Given the description of an element on the screen output the (x, y) to click on. 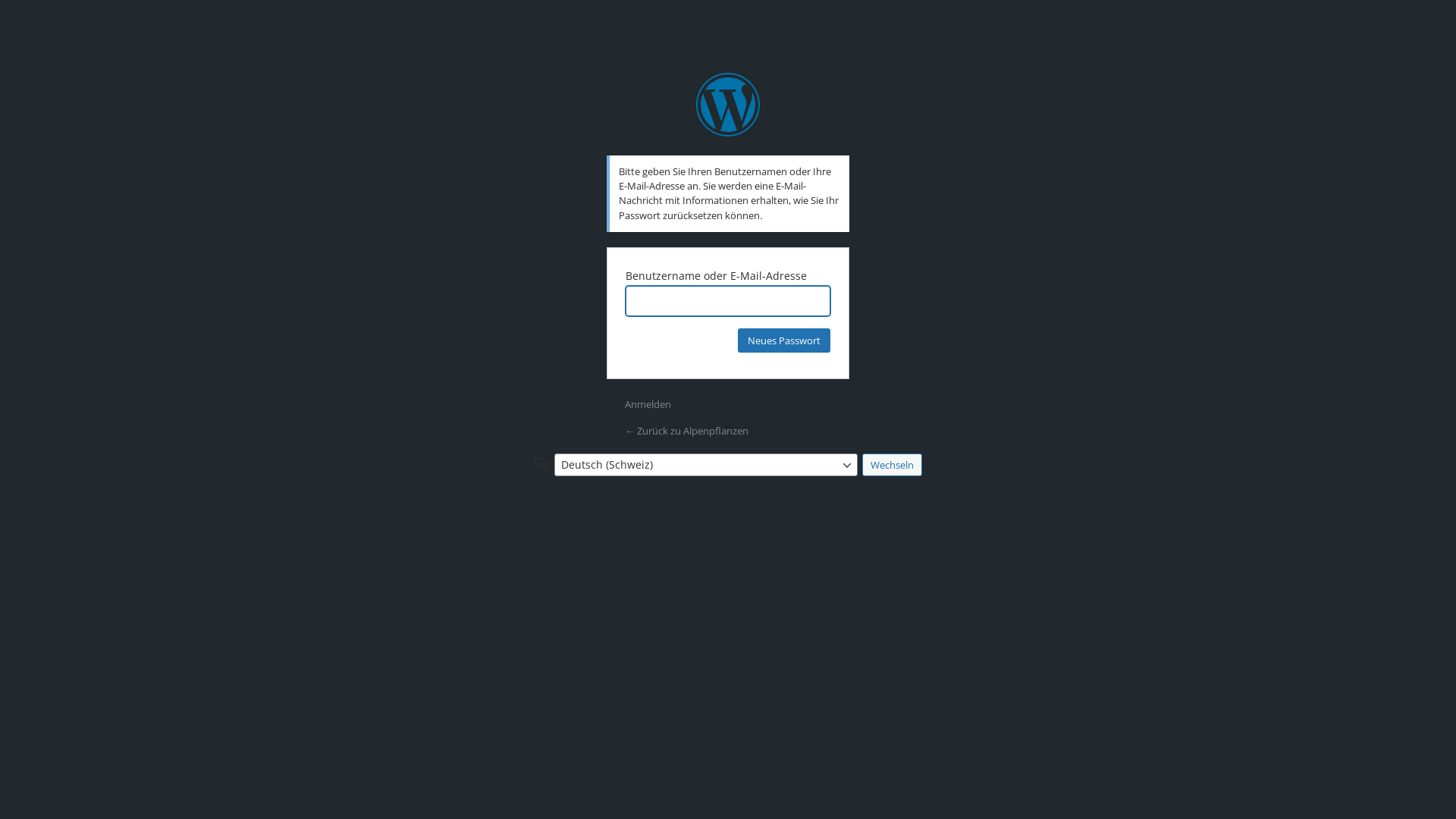
Powered by WordPress Element type: text (727, 104)
Wechseln Element type: text (892, 464)
Anmelden Element type: text (647, 404)
Neues Passwort Element type: text (783, 340)
